Given the description of an element on the screen output the (x, y) to click on. 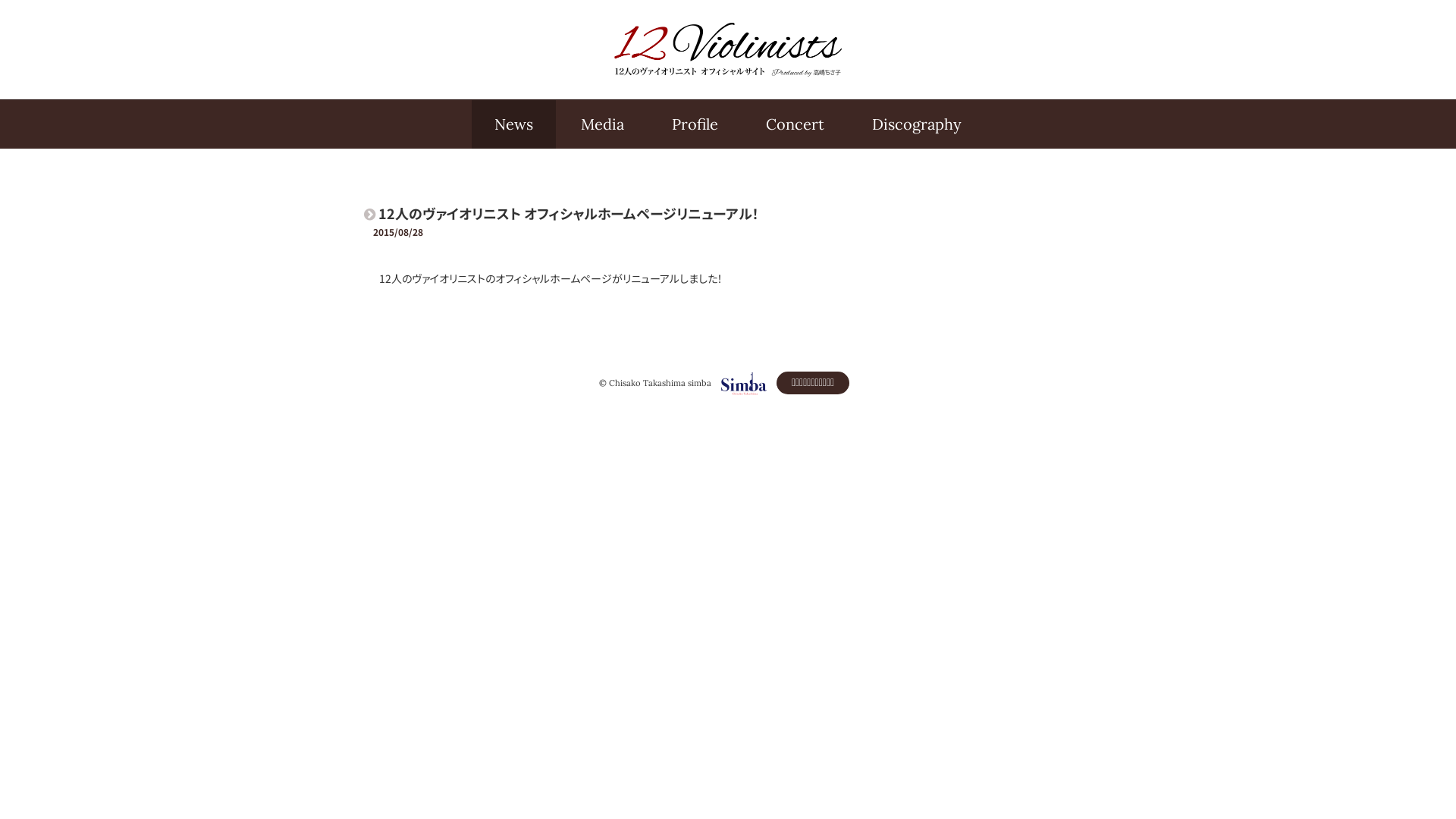
Concert Element type: text (795, 124)
Profile Element type: text (694, 124)
Media Element type: text (602, 124)
News Element type: text (513, 124)
Discography Element type: text (916, 124)
